Given the description of an element on the screen output the (x, y) to click on. 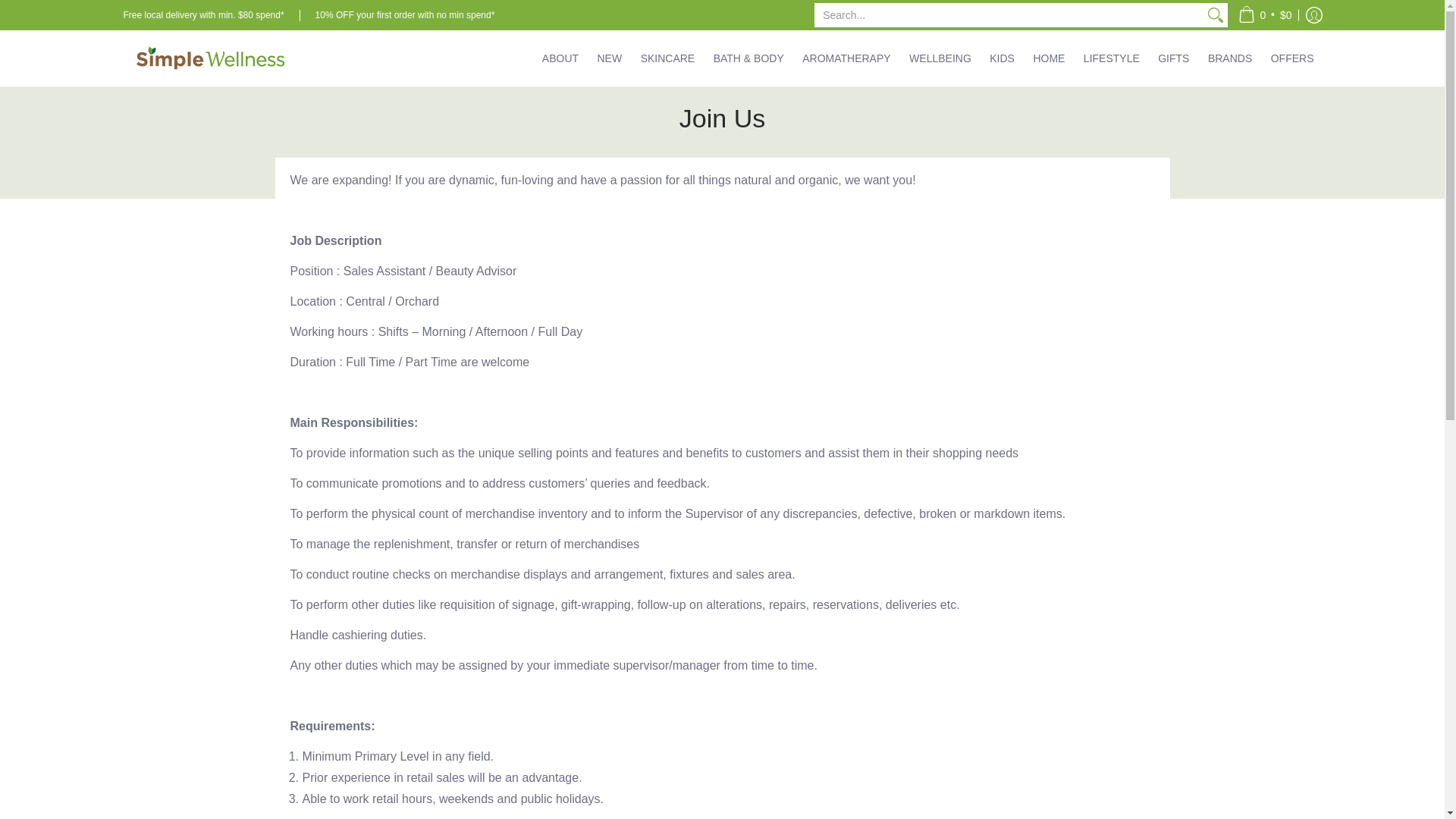
NEW (609, 58)
Log in (1312, 15)
NEW (609, 58)
ABOUT (560, 58)
Simple Wellness  (209, 58)
SKINCARE (668, 58)
Cart (1264, 15)
ABOUT (560, 58)
SKINCARE (668, 58)
